Given the description of an element on the screen output the (x, y) to click on. 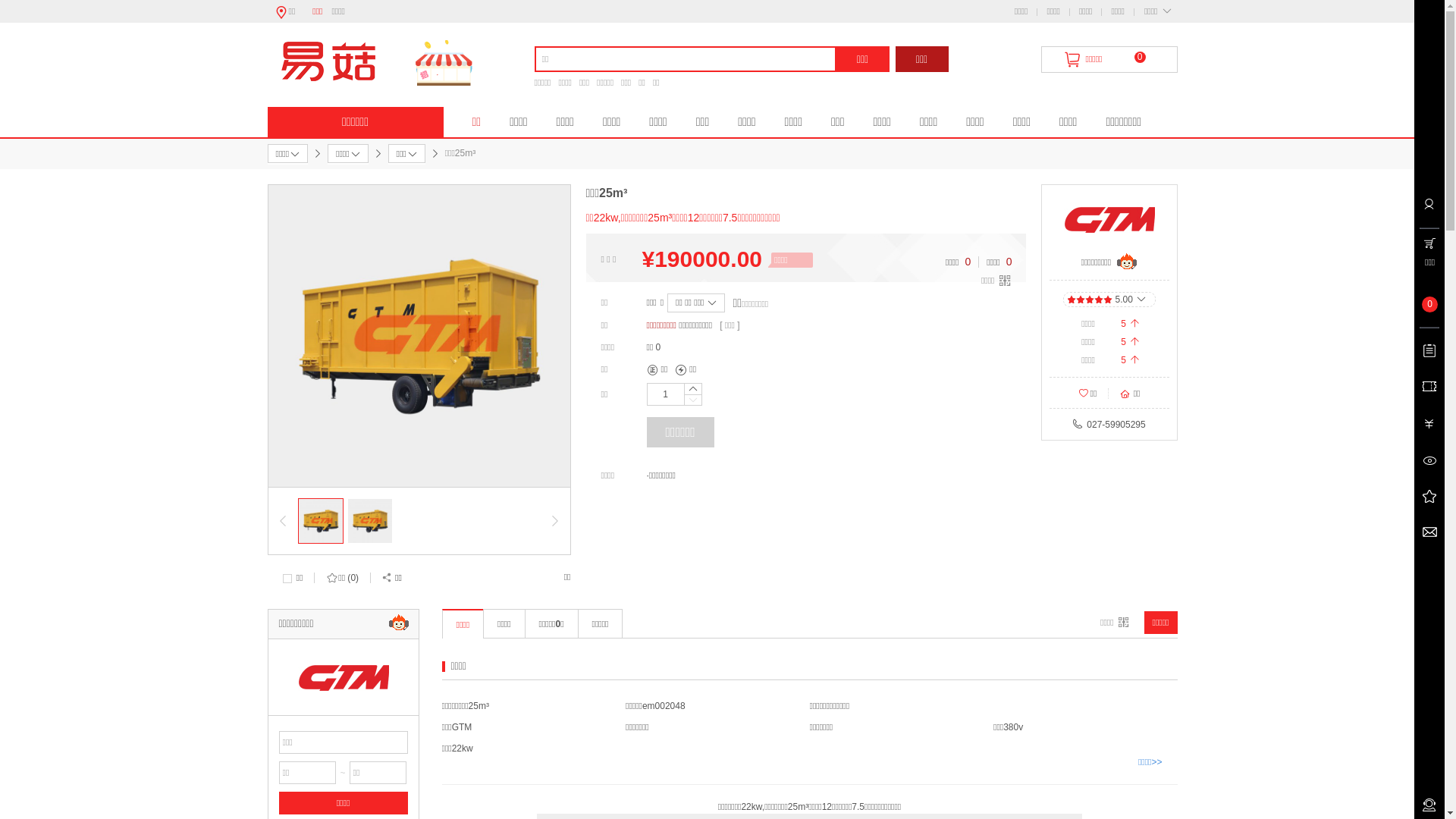
on Element type: text (4, 4)
